Given the description of an element on the screen output the (x, y) to click on. 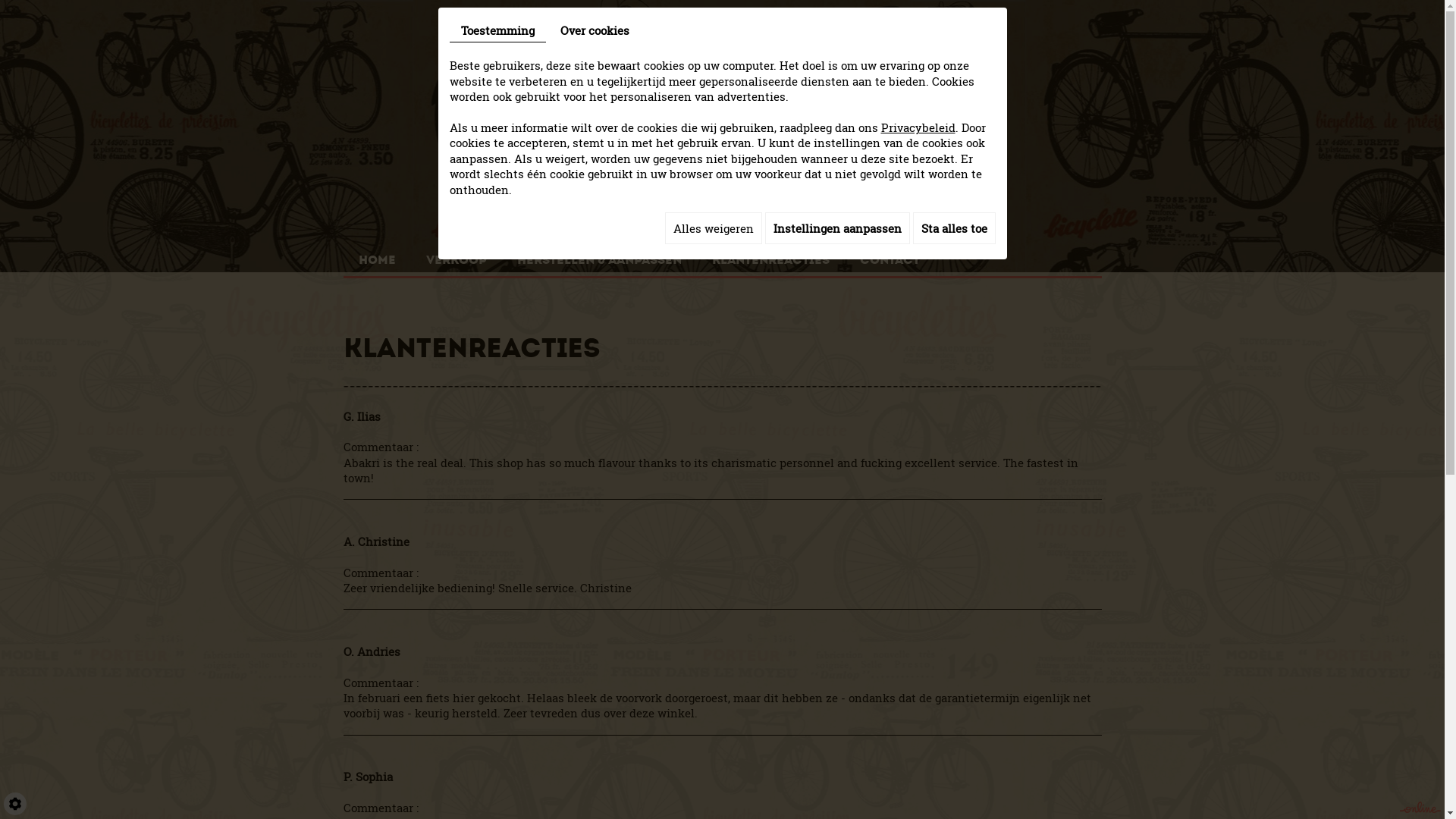
Instellingen aanpassen Element type: text (836, 228)
Toestemming Element type: text (496, 30)
VERKOOP Element type: text (456, 254)
Abakri - Antwerpen  Element type: hover (721, 119)
KLANTENREACTIES Element type: text (770, 254)
Sta alles toe Element type: text (954, 228)
Cookie-instelling bewerken Element type: text (14, 803)
Over cookies Element type: text (594, 29)
Privacybeleid Element type: text (918, 126)
HOME Element type: text (376, 254)
HERSTELLEN & AANPASSEN Element type: text (599, 254)
CONTACT Element type: text (889, 254)
Alles weigeren Element type: text (712, 228)
